Given the description of an element on the screen output the (x, y) to click on. 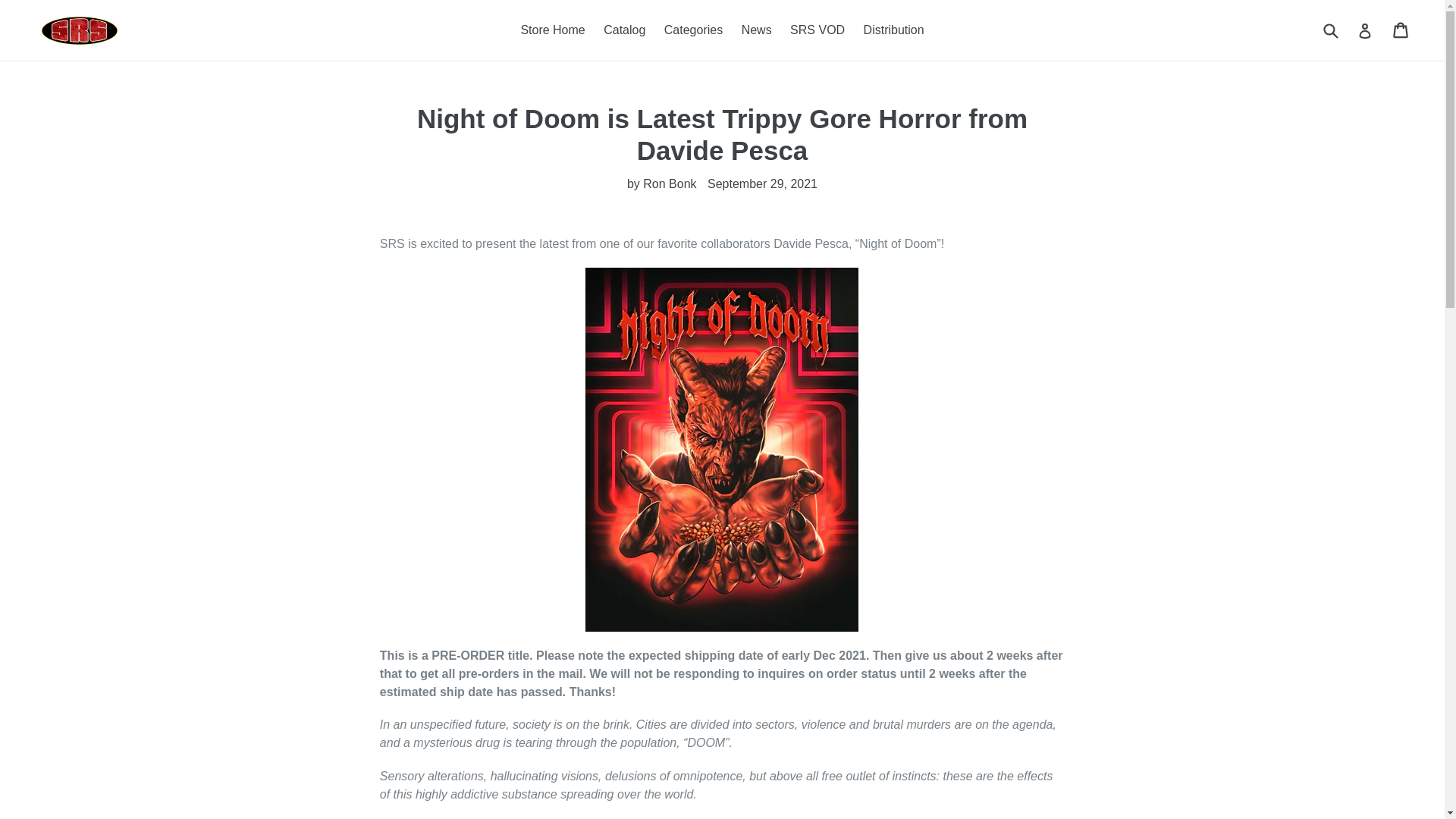
Categories (693, 29)
Catalog (623, 29)
SRS VOD (817, 29)
News (755, 29)
Store Home (552, 29)
Distribution (893, 29)
